Given the description of an element on the screen output the (x, y) to click on. 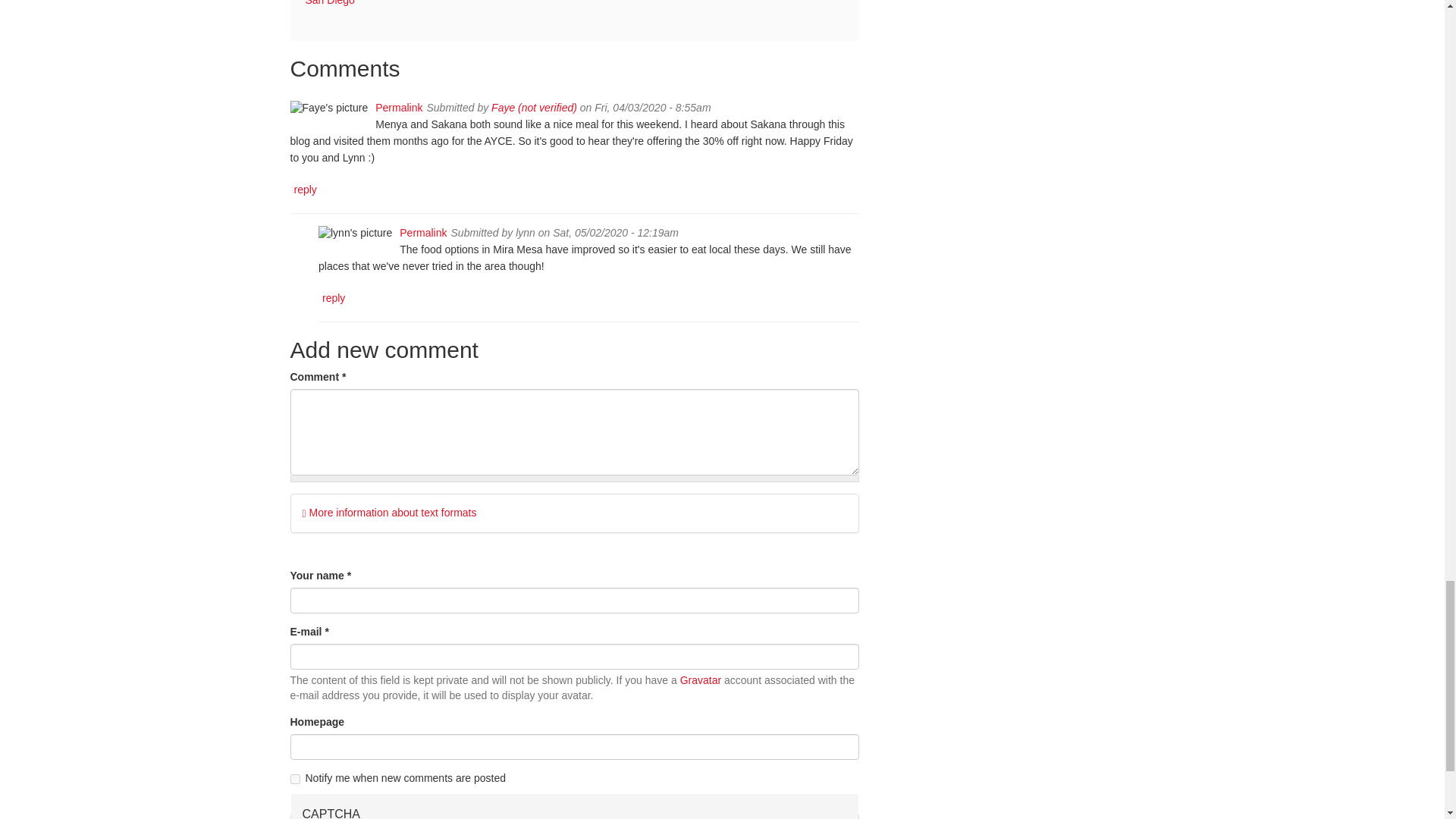
1 (294, 778)
